Given the description of an element on the screen output the (x, y) to click on. 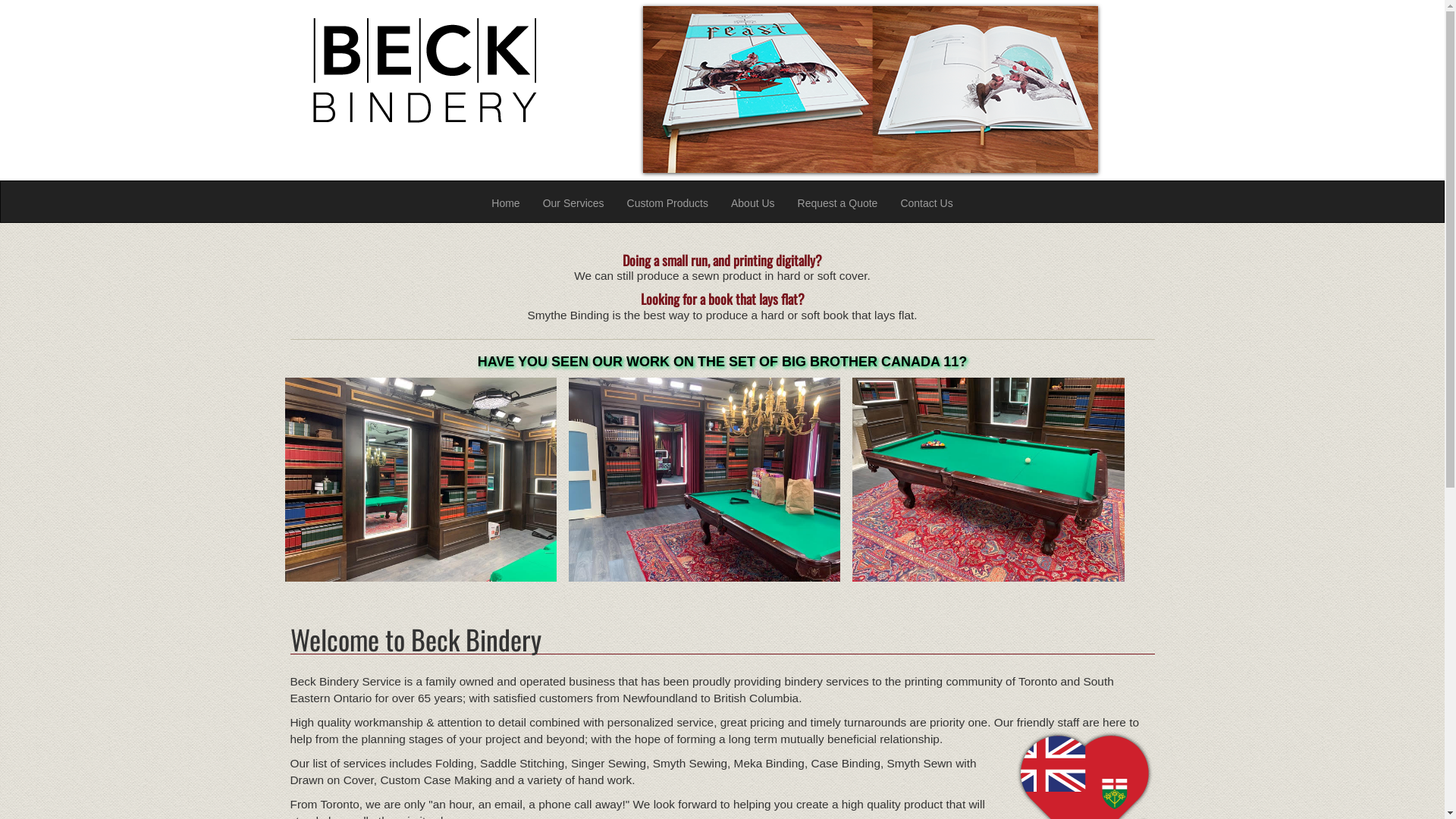
2 Element type: text (836, 21)
Custom Products Element type: text (667, 202)
About Us Element type: text (752, 202)
7 Element type: text (919, 21)
Request a Quote Element type: text (837, 202)
3 Element type: text (852, 21)
4 Element type: text (869, 21)
Home Element type: text (505, 202)
5 Element type: text (886, 21)
6 Element type: text (902, 21)
1 Element type: text (819, 21)
Our Services Element type: text (573, 202)
Contact Us Element type: text (925, 202)
